Given the description of an element on the screen output the (x, y) to click on. 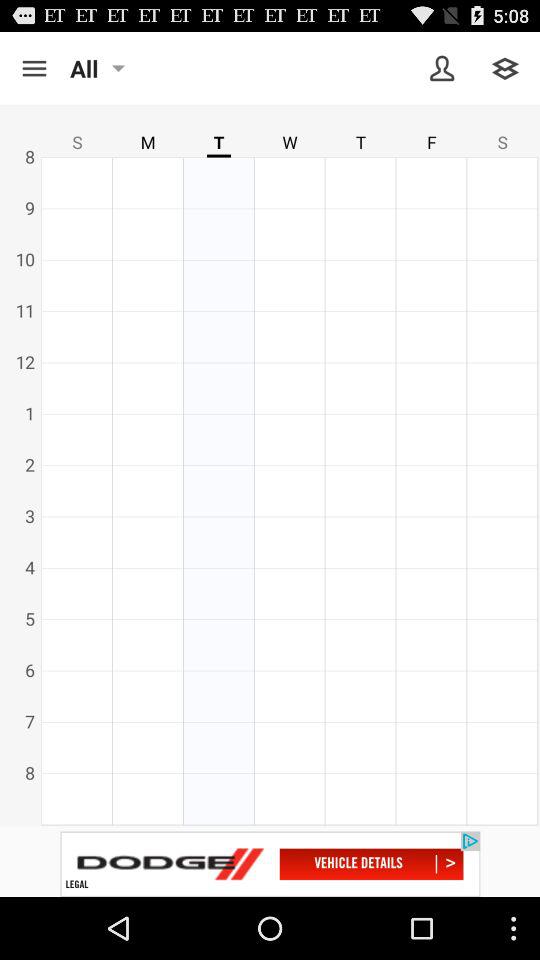
visit advertiser website (270, 864)
